Given the description of an element on the screen output the (x, y) to click on. 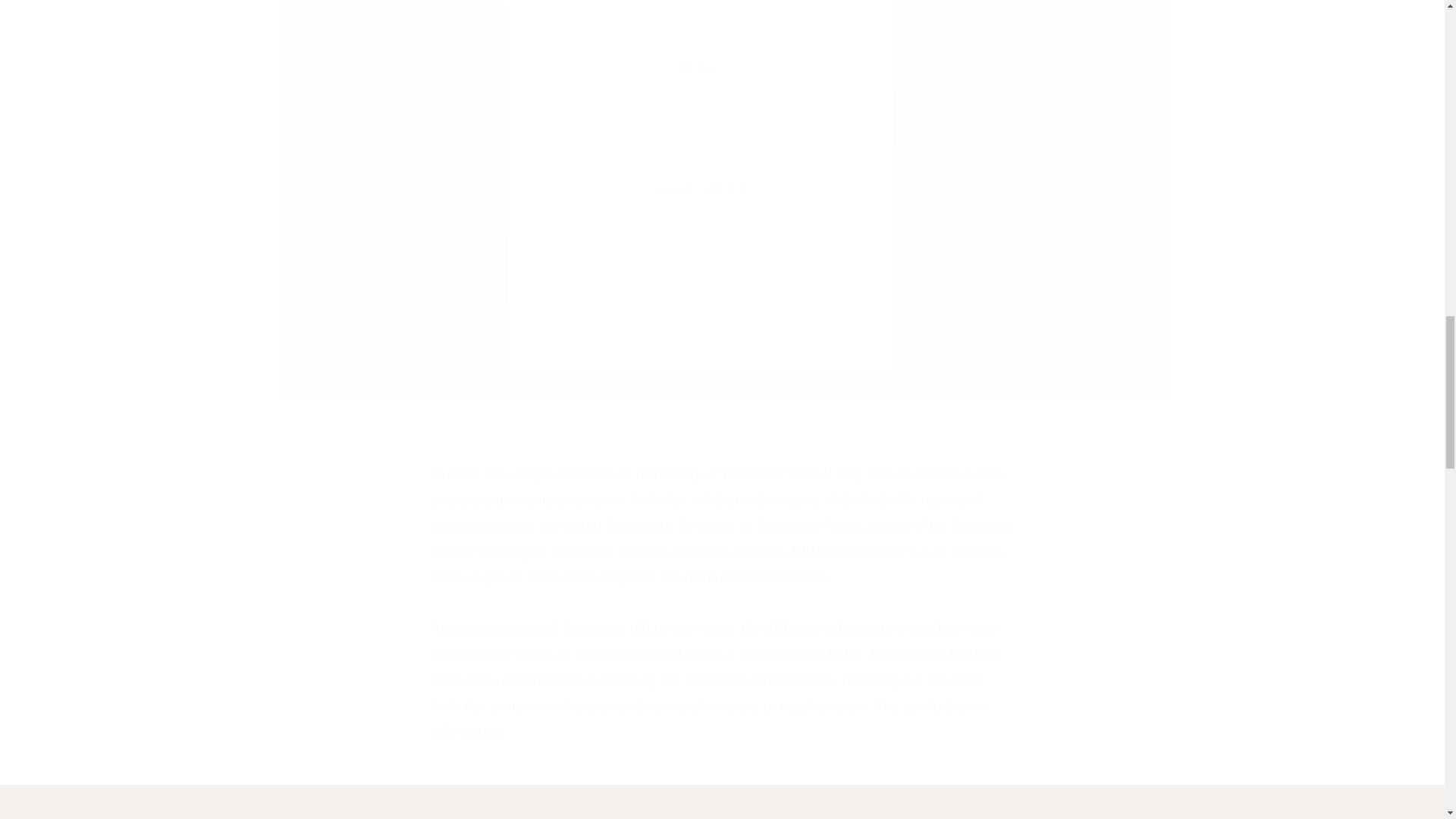
here (519, 731)
